Given the description of an element on the screen output the (x, y) to click on. 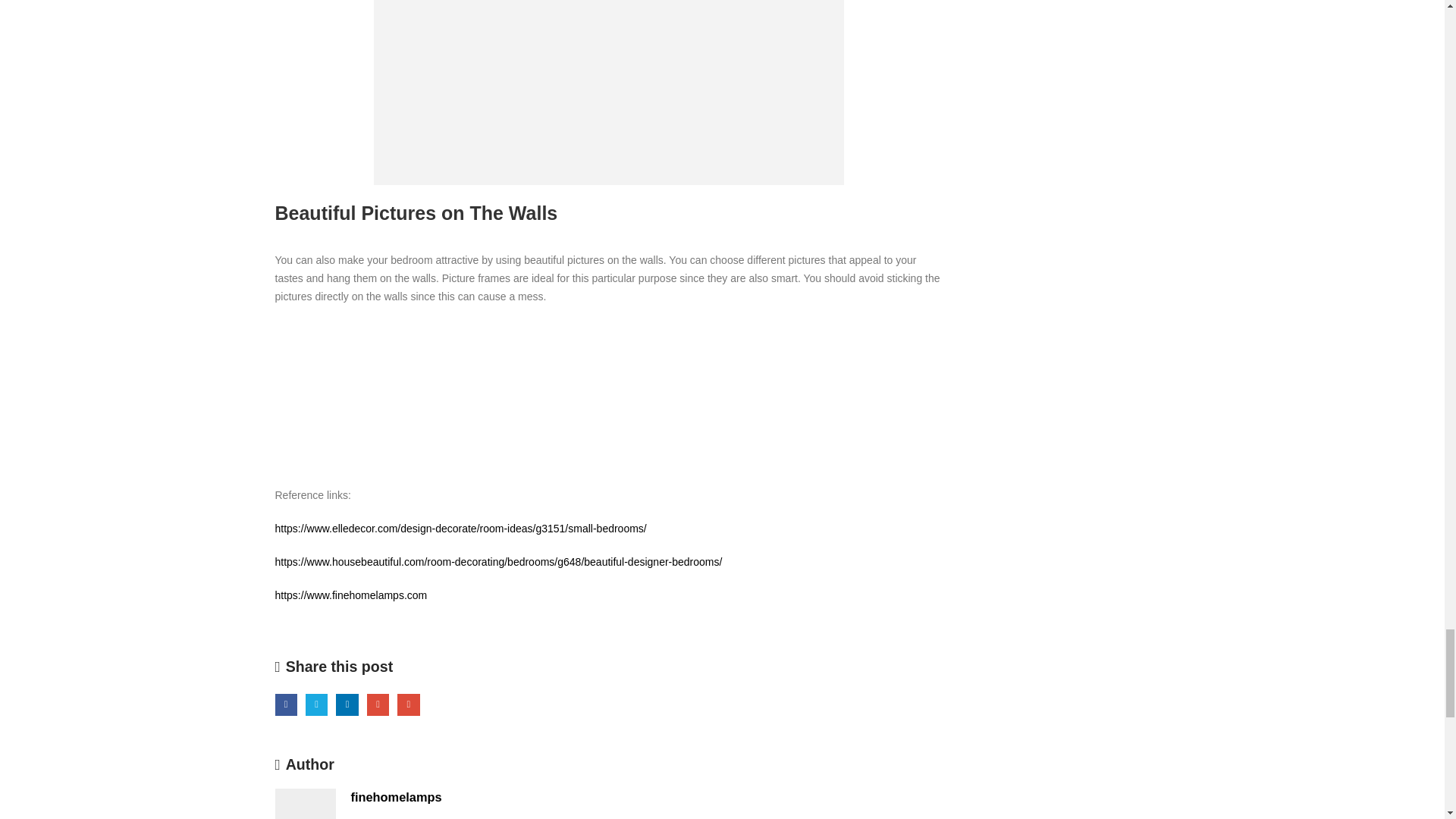
Twitter (316, 704)
Facebook (286, 704)
